Given the description of an element on the screen output the (x, y) to click on. 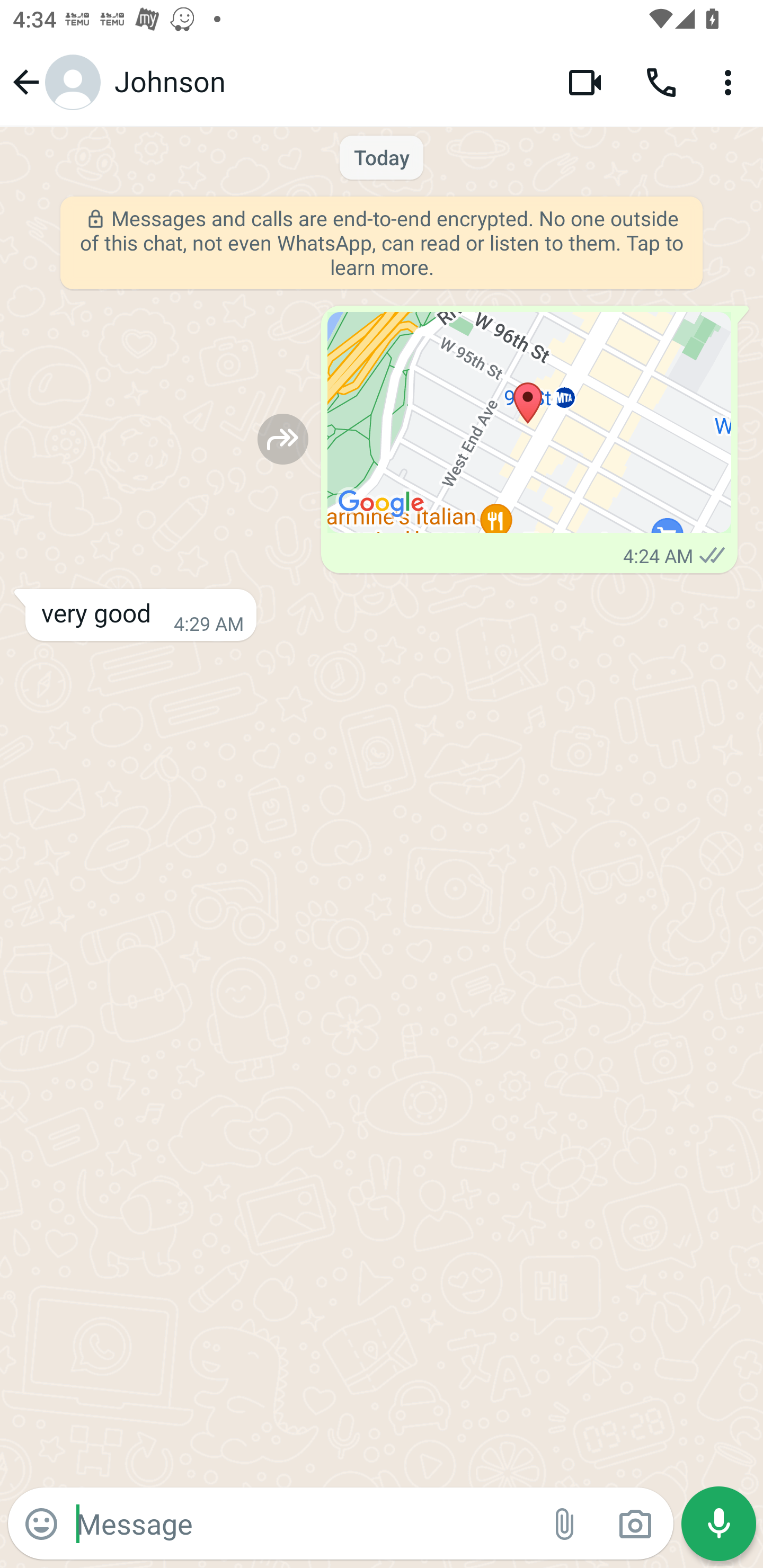
Johnson (327, 82)
Navigate up (54, 82)
Video call (585, 81)
Voice call (661, 81)
More options (731, 81)
Location (528, 422)
Forward to… (282, 438)
Emoji (41, 1523)
Attach (565, 1523)
Camera (634, 1523)
Message (303, 1523)
